Given the description of an element on the screen output the (x, y) to click on. 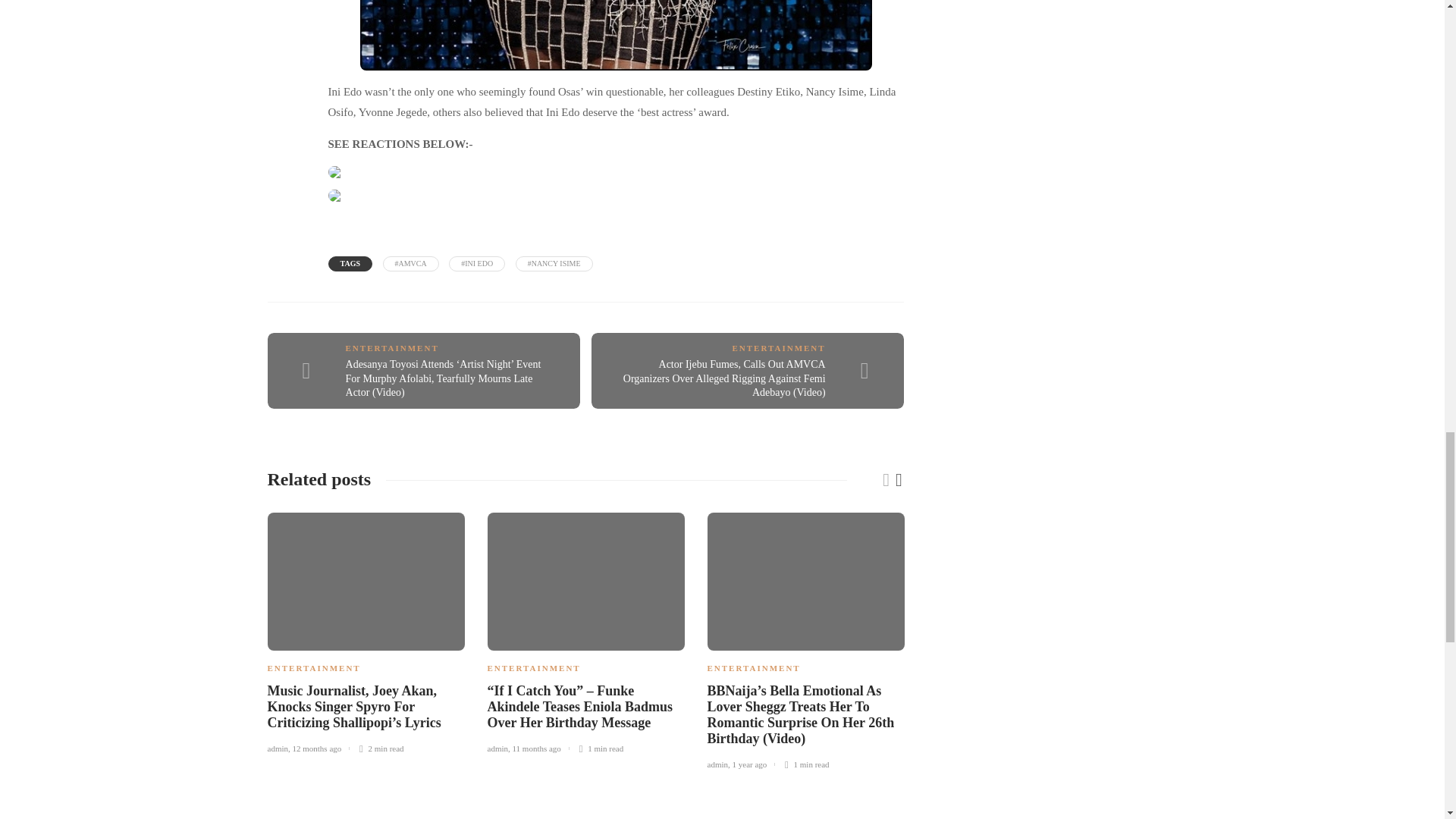
ENTERTAINMENT (778, 347)
TAGS (349, 263)
ENTERTAINMENT (392, 347)
